Given the description of an element on the screen output the (x, y) to click on. 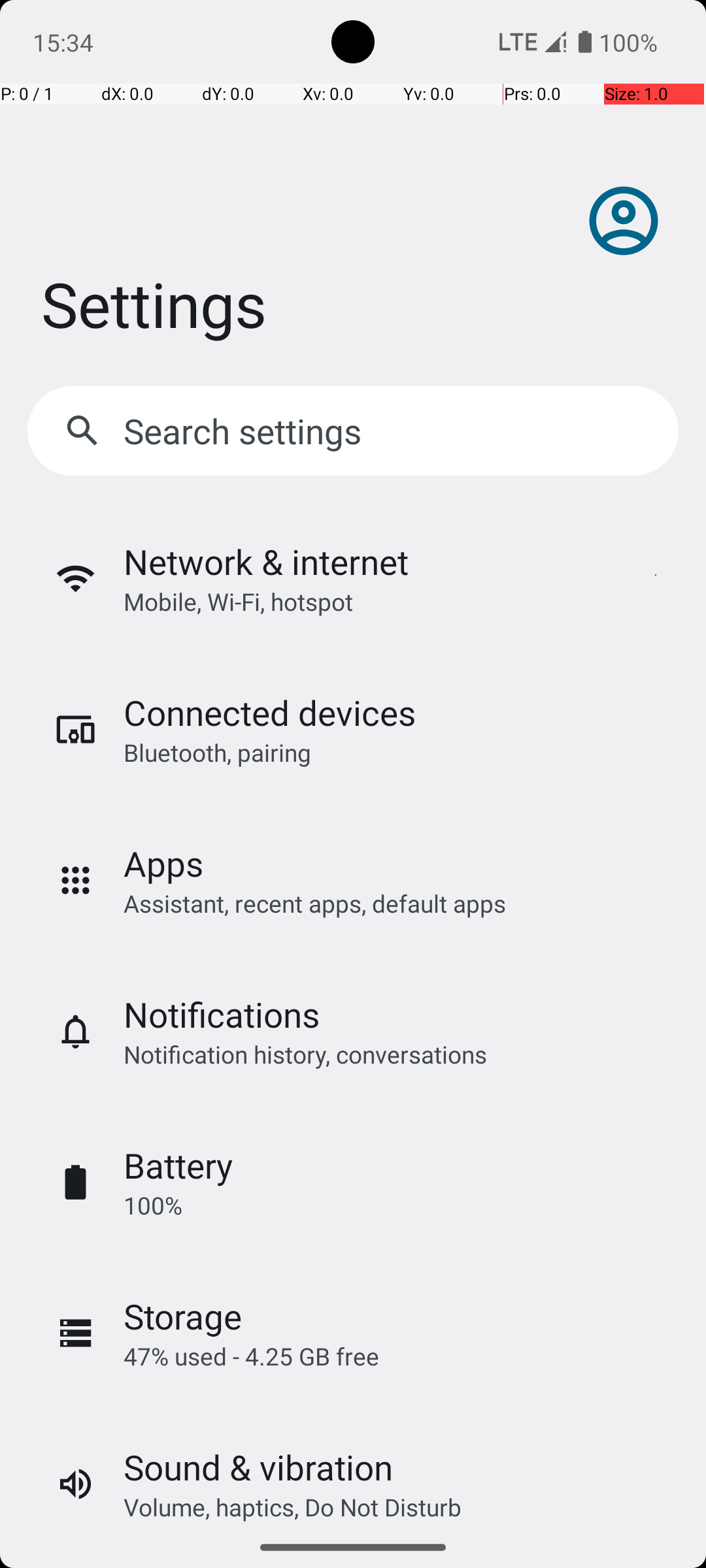
47% used - 4.25 GB free Element type: android.widget.TextView (251, 1355)
